Given the description of an element on the screen output the (x, y) to click on. 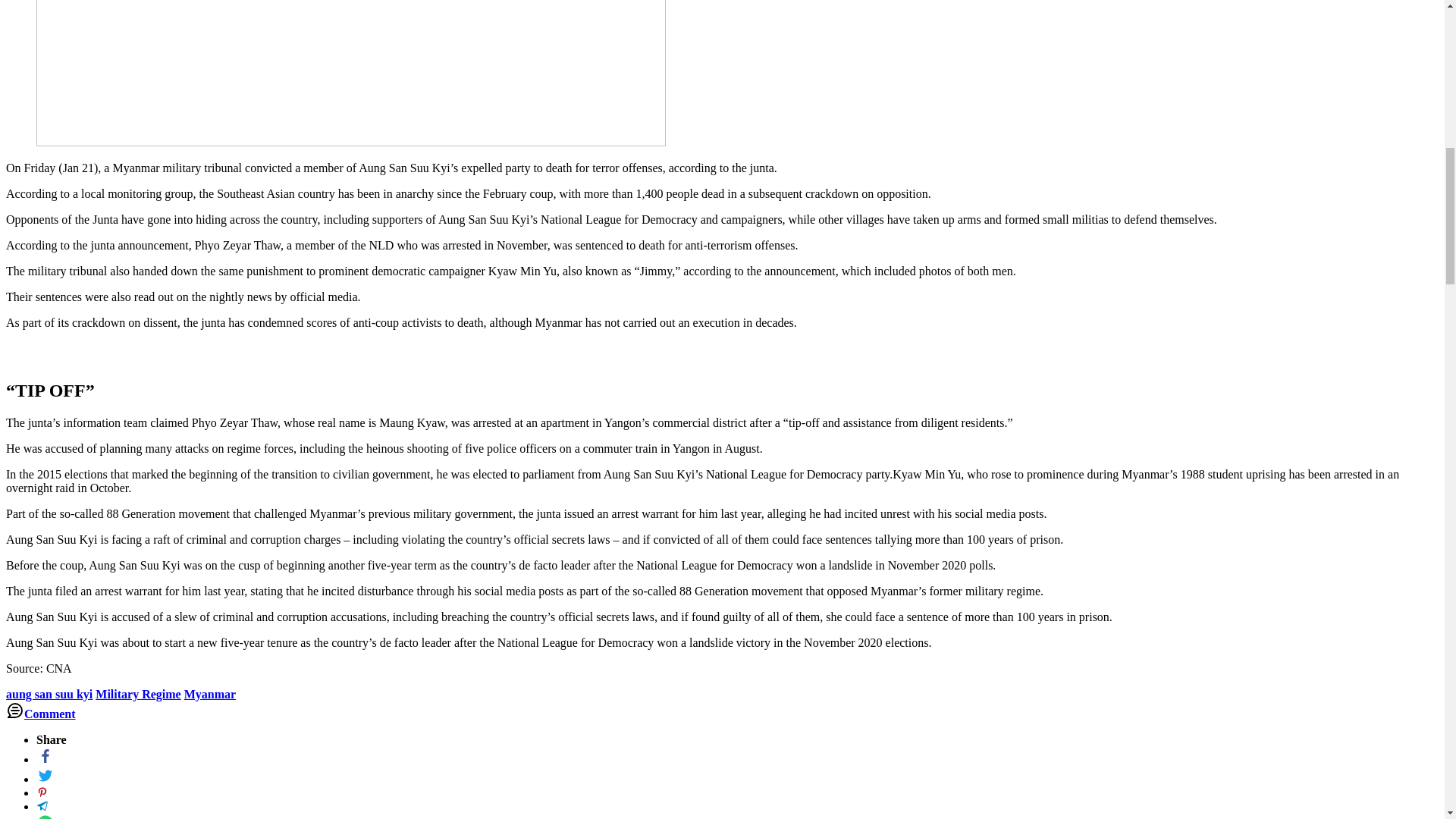
Telegram Share (42, 806)
Facebook Share (45, 758)
Tweet This (45, 779)
Tweet This (42, 792)
aung san suu kyi (49, 694)
